Given the description of an element on the screen output the (x, y) to click on. 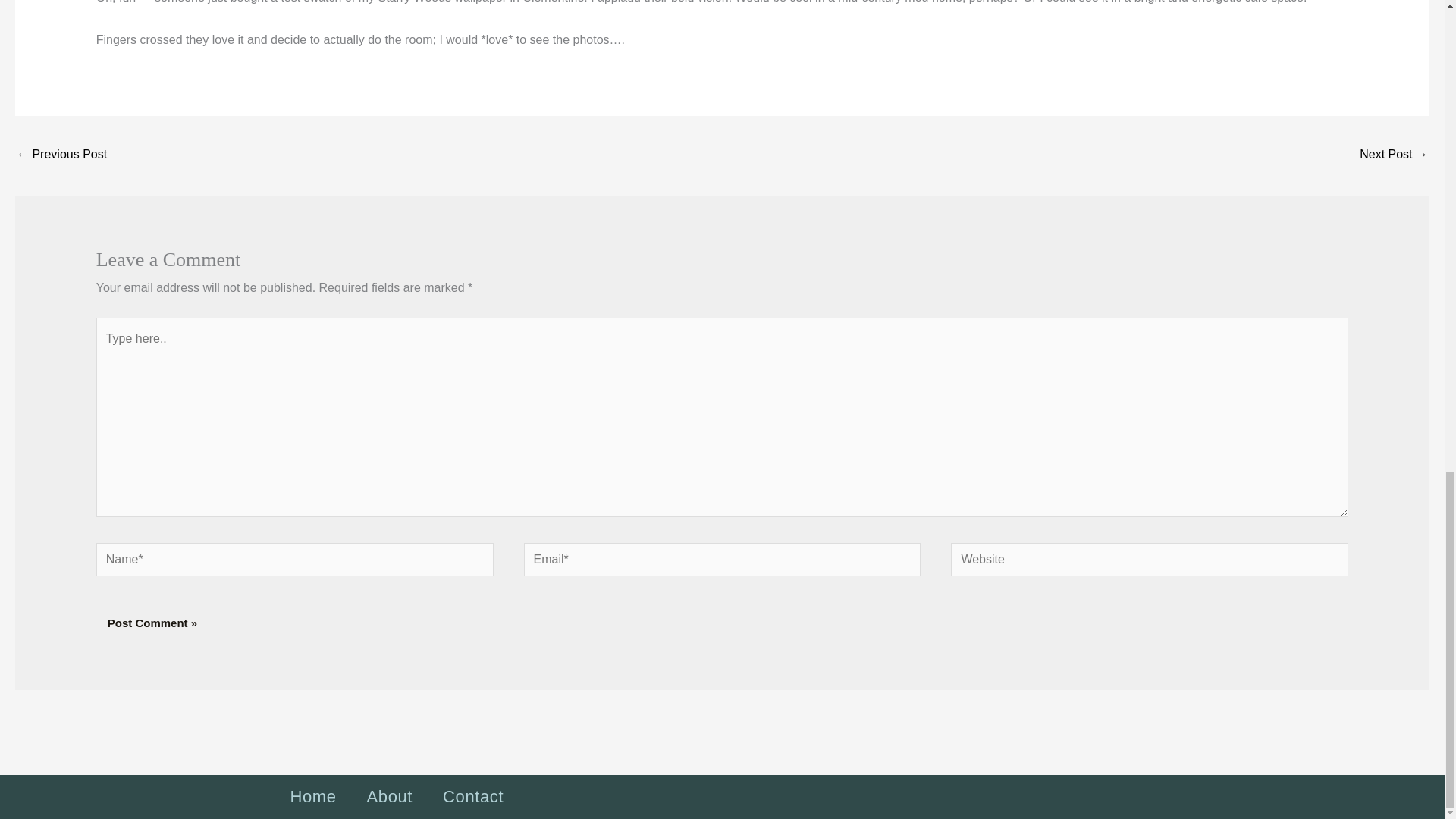
Hush Is Now Live on Tor.com (61, 155)
Building Cardio Capacity (1393, 155)
